Given the description of an element on the screen output the (x, y) to click on. 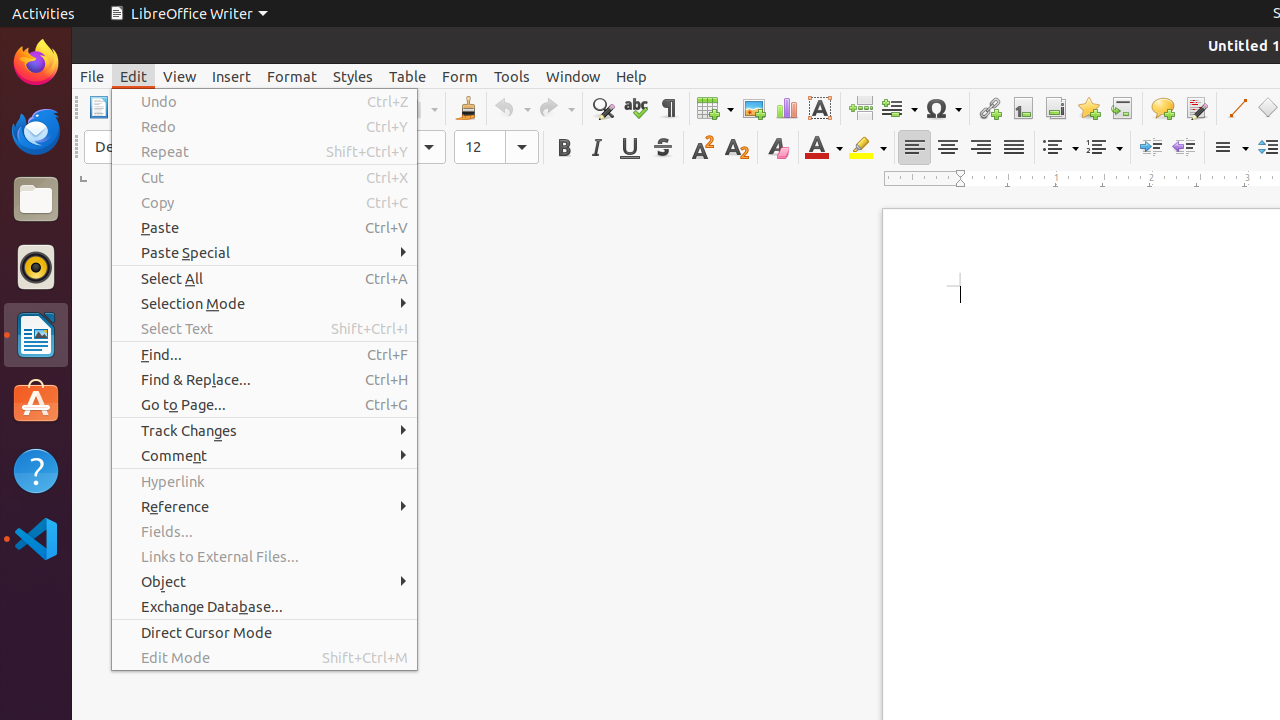
Bookmark Element type: push-button (1088, 108)
Justified Element type: toggle-button (1013, 147)
Tools Element type: menu (512, 76)
Reference Element type: menu (264, 506)
Font Color Element type: push-button (824, 147)
